Given the description of an element on the screen output the (x, y) to click on. 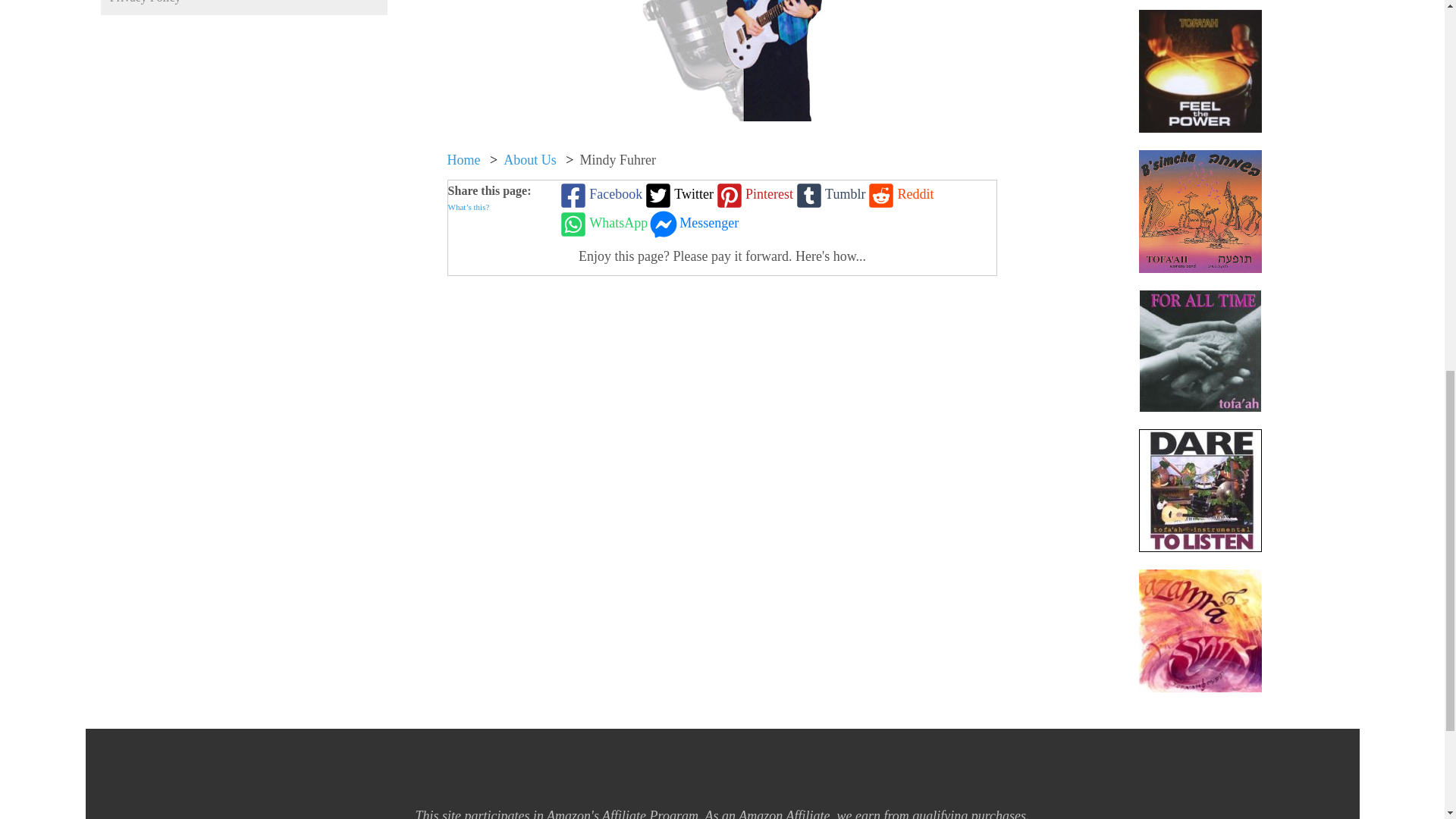
Facebook (599, 194)
Pinterest (753, 194)
WhatsApp (602, 223)
Feel the Power (1200, 70)
Tumblr (828, 194)
Privacy Policy (243, 7)
Messenger (692, 223)
For All Time (1199, 350)
Dare to Listen (1200, 490)
Twitter (677, 194)
